Given the description of an element on the screen output the (x, y) to click on. 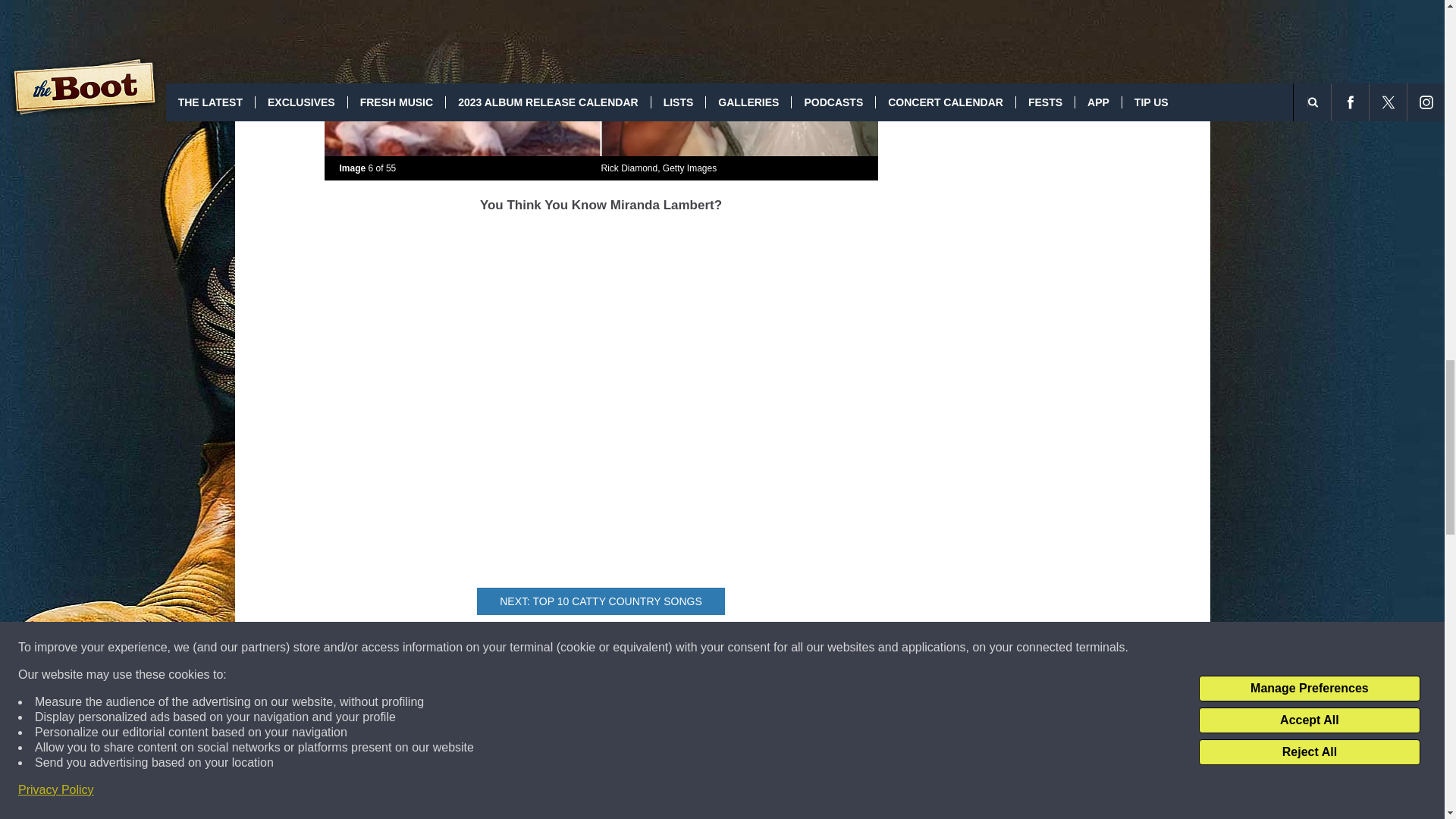
NEXT: TOP 10 CATTY COUNTRY SONGS (601, 601)
